Given the description of an element on the screen output the (x, y) to click on. 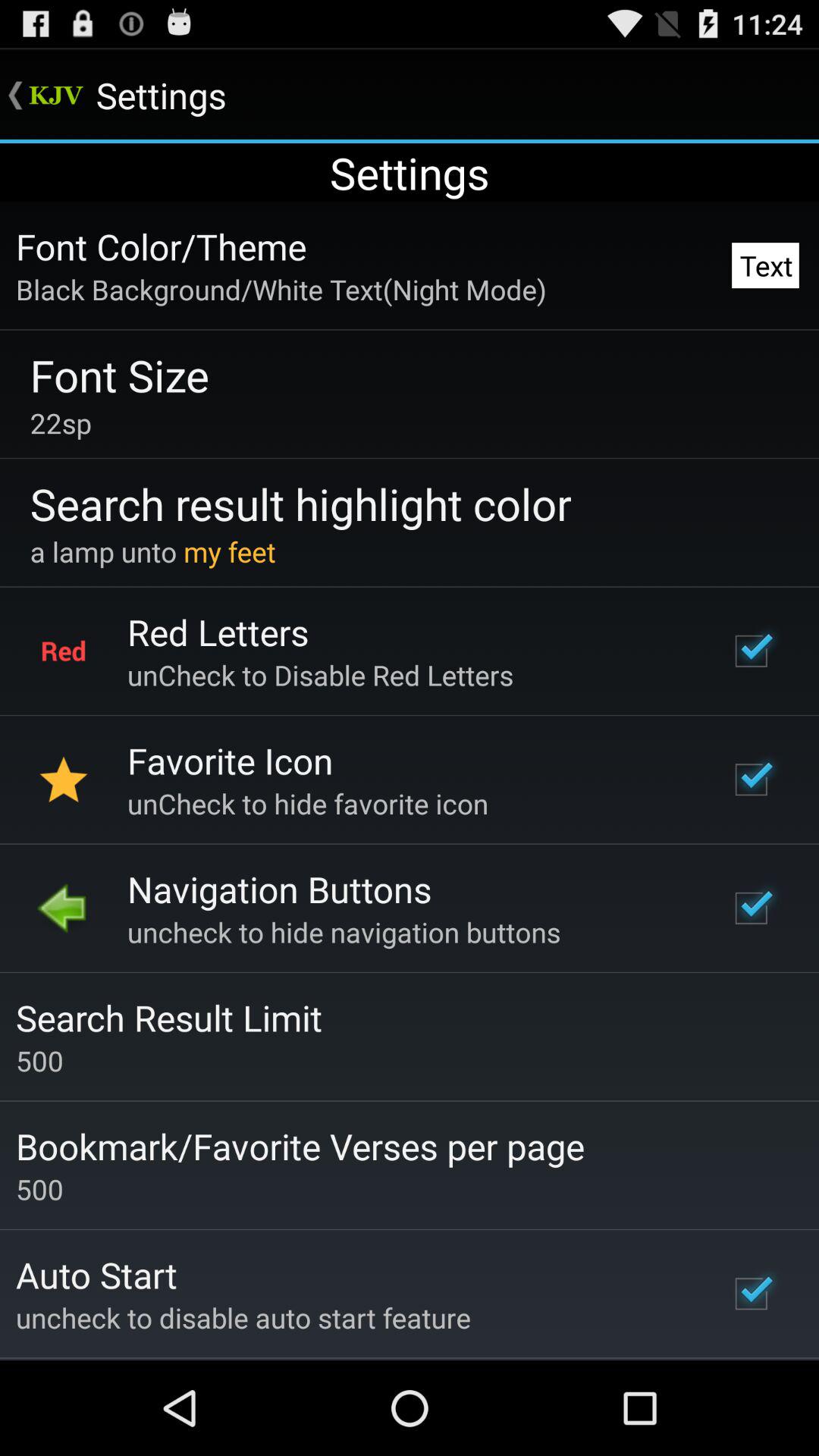
open the app below search result highlight icon (152, 551)
